Given the description of an element on the screen output the (x, y) to click on. 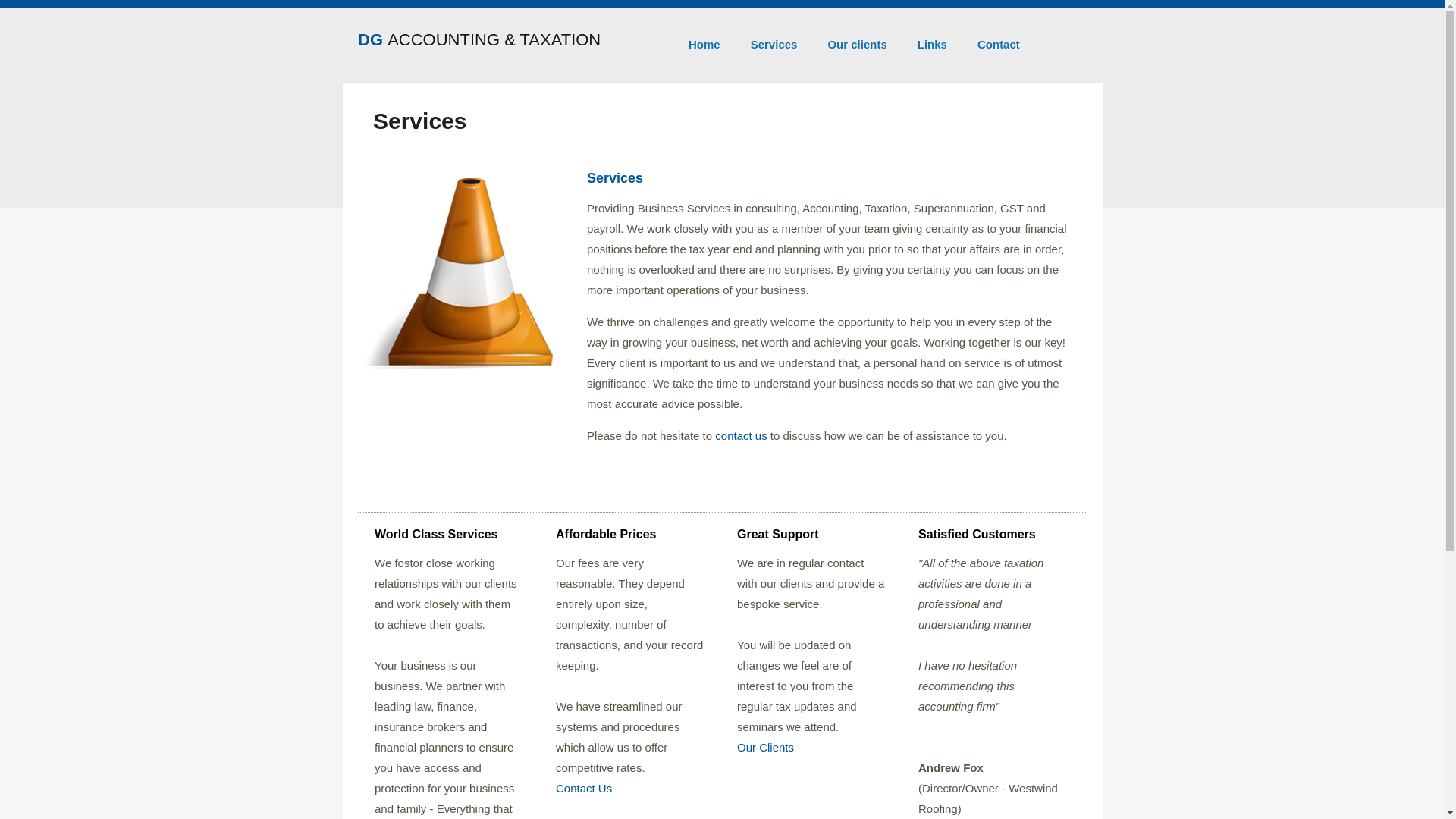
Our Clients Element type: text (765, 746)
Our clients Element type: text (856, 39)
contact us Element type: text (740, 435)
Links Element type: text (932, 39)
Contact Us Element type: text (583, 787)
Services Element type: text (773, 39)
DG ACCOUNTING & TAXATION Element type: text (478, 39)
Contact Element type: text (998, 39)
Home Element type: text (704, 39)
